Given the description of an element on the screen output the (x, y) to click on. 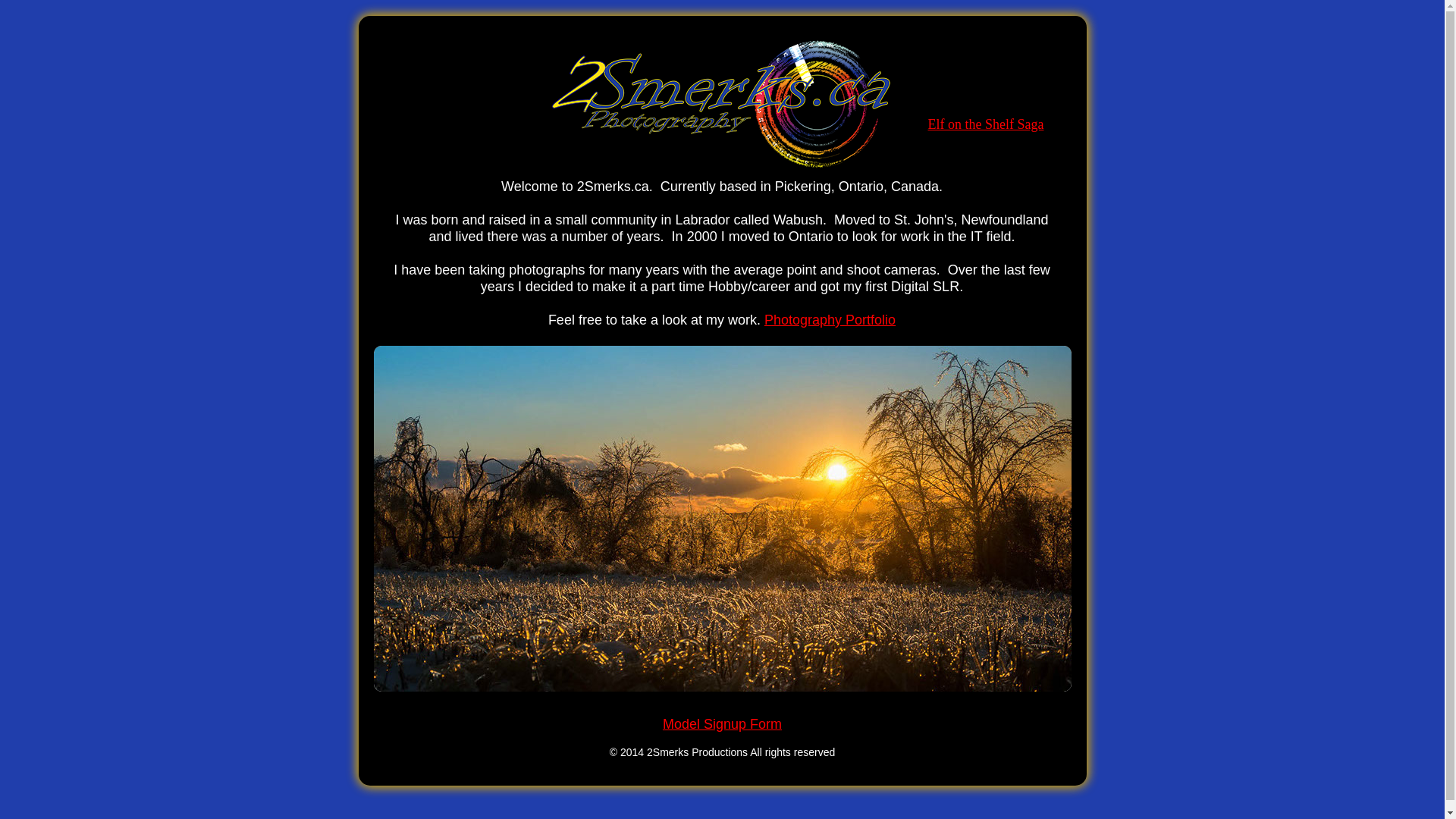
Model Signup Form Element type: text (721, 723)
Elf on the Shelf Saga Element type: text (986, 123)
Photography Portfolio Element type: text (829, 319)
